Given the description of an element on the screen output the (x, y) to click on. 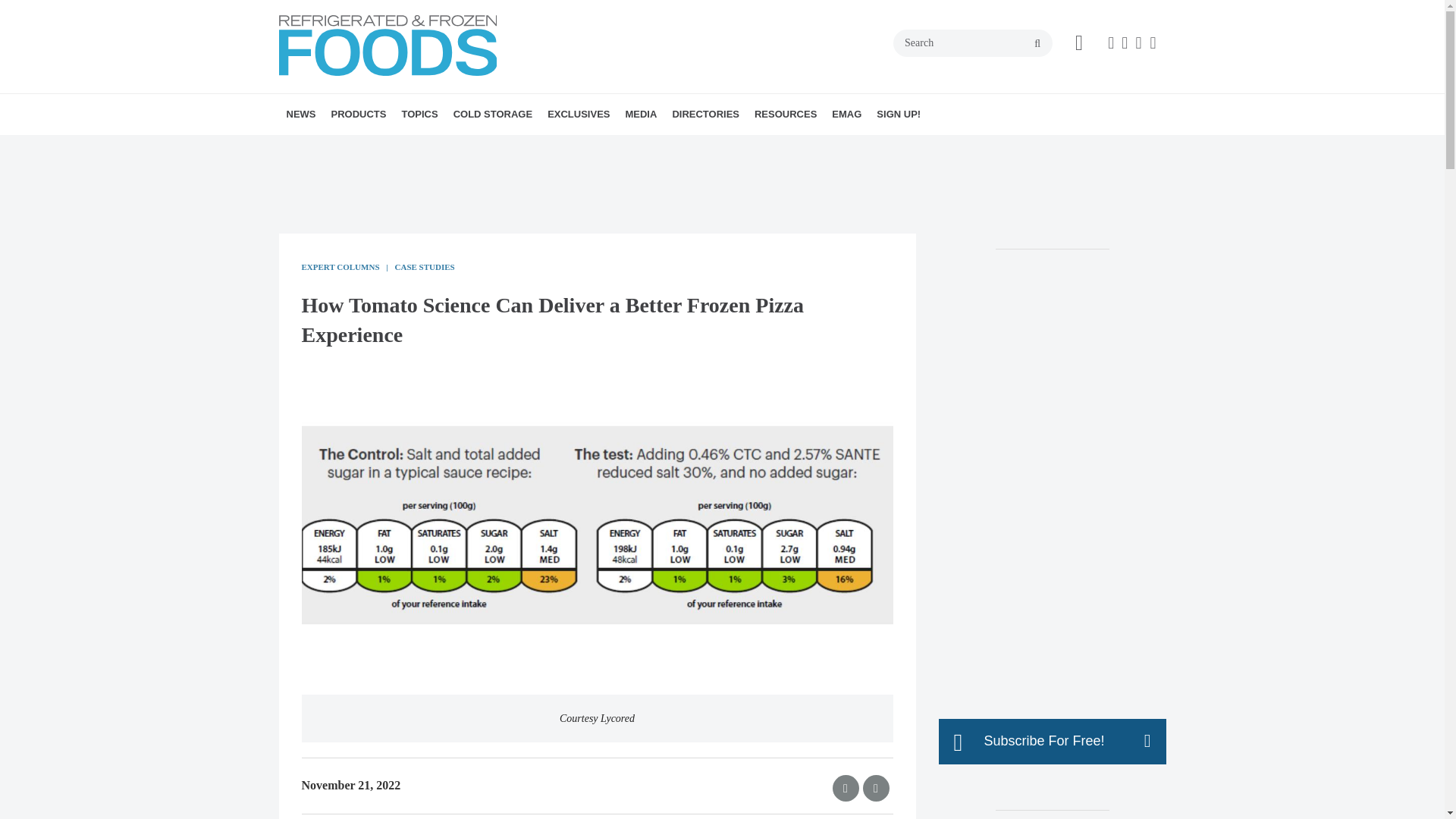
PACKAGING (507, 147)
TECHNOLOGY SHOWCASE (391, 147)
EXCLUSIVES (578, 114)
MEDIA (640, 114)
TOPICS (419, 114)
PROCESSOR OF THE YEAR (634, 147)
search (1037, 43)
FEATURED PRODUCTS (424, 147)
EDITOR'S BLOG (666, 147)
INDUSTRY NEWS (373, 147)
